Given the description of an element on the screen output the (x, y) to click on. 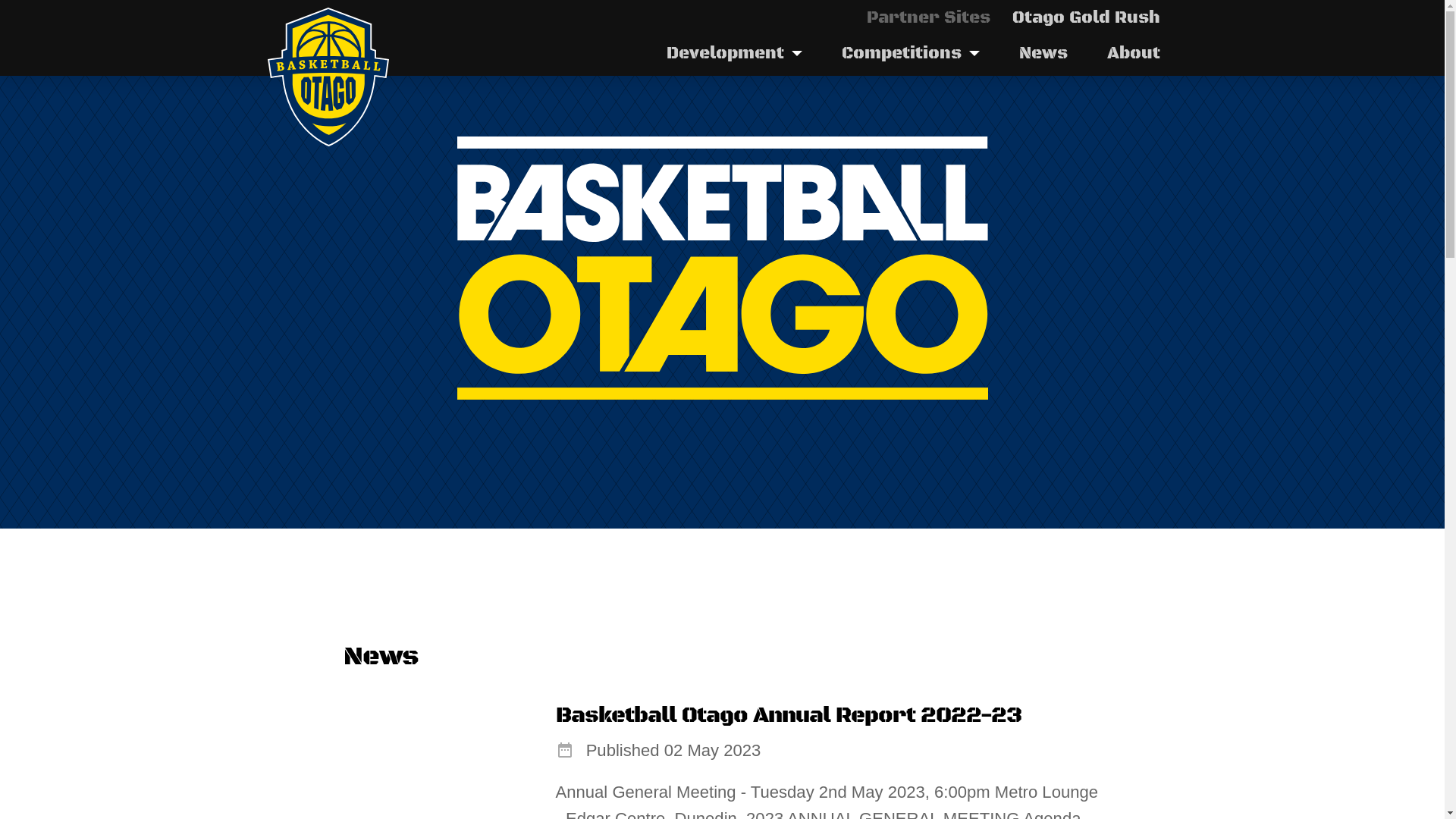
Basketball Otago Annual Report 2022-23 Element type: text (787, 715)
About Element type: text (1133, 53)
News Element type: text (1043, 53)
Otago Gold Rush Element type: text (1085, 17)
